Given the description of an element on the screen output the (x, y) to click on. 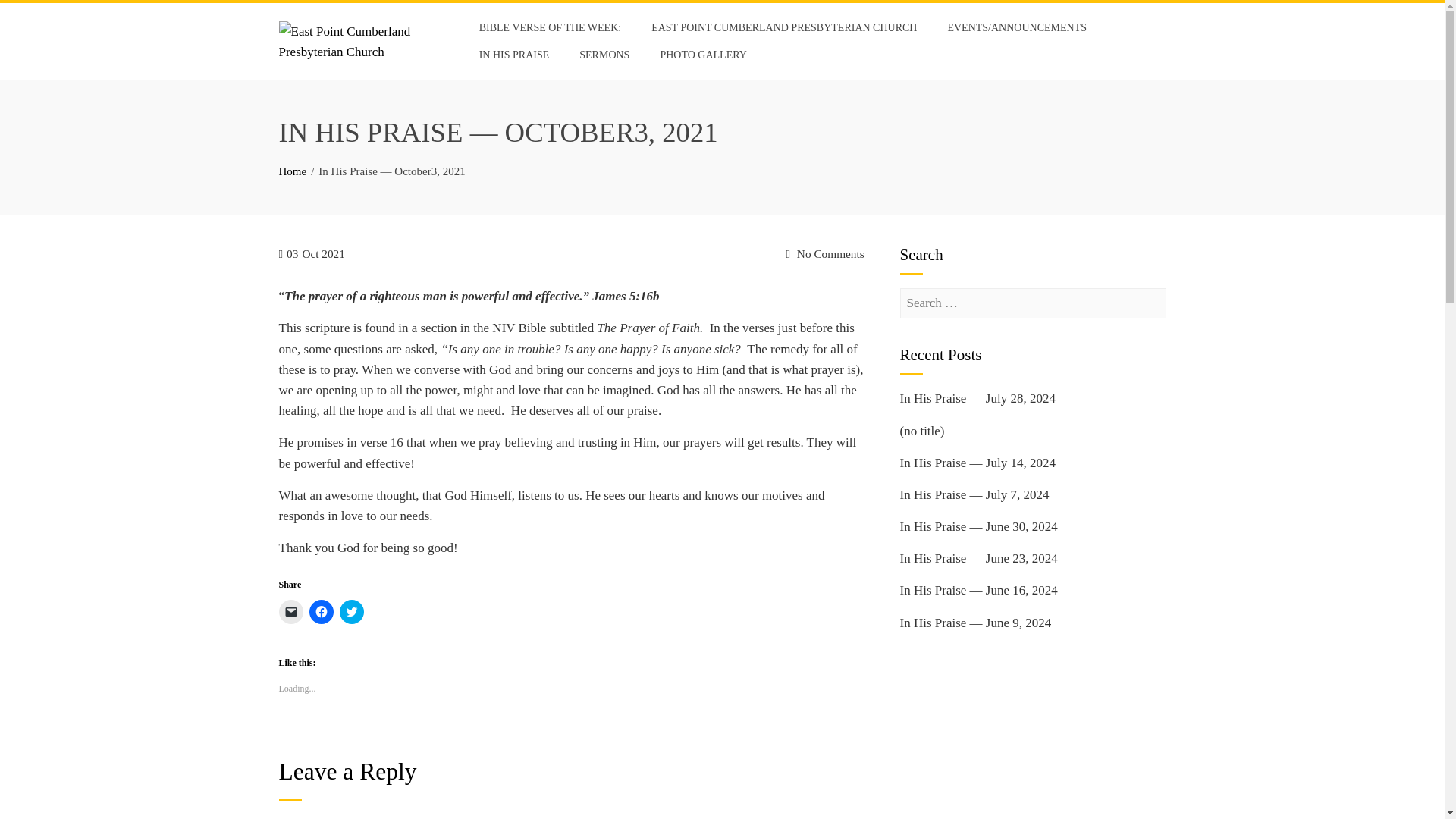
Search (32, 15)
SERMONS (603, 54)
Click to share on Twitter (351, 611)
IN HIS PRAISE (513, 54)
Home (293, 171)
EAST POINT CUMBERLAND PRESBYTERIAN CHURCH (784, 27)
Click to share on Facebook (320, 611)
No Comments (824, 253)
PHOTO GALLERY (702, 54)
BIBLE VERSE OF THE WEEK: (549, 27)
Click to email a link to a friend (290, 611)
